Given the description of an element on the screen output the (x, y) to click on. 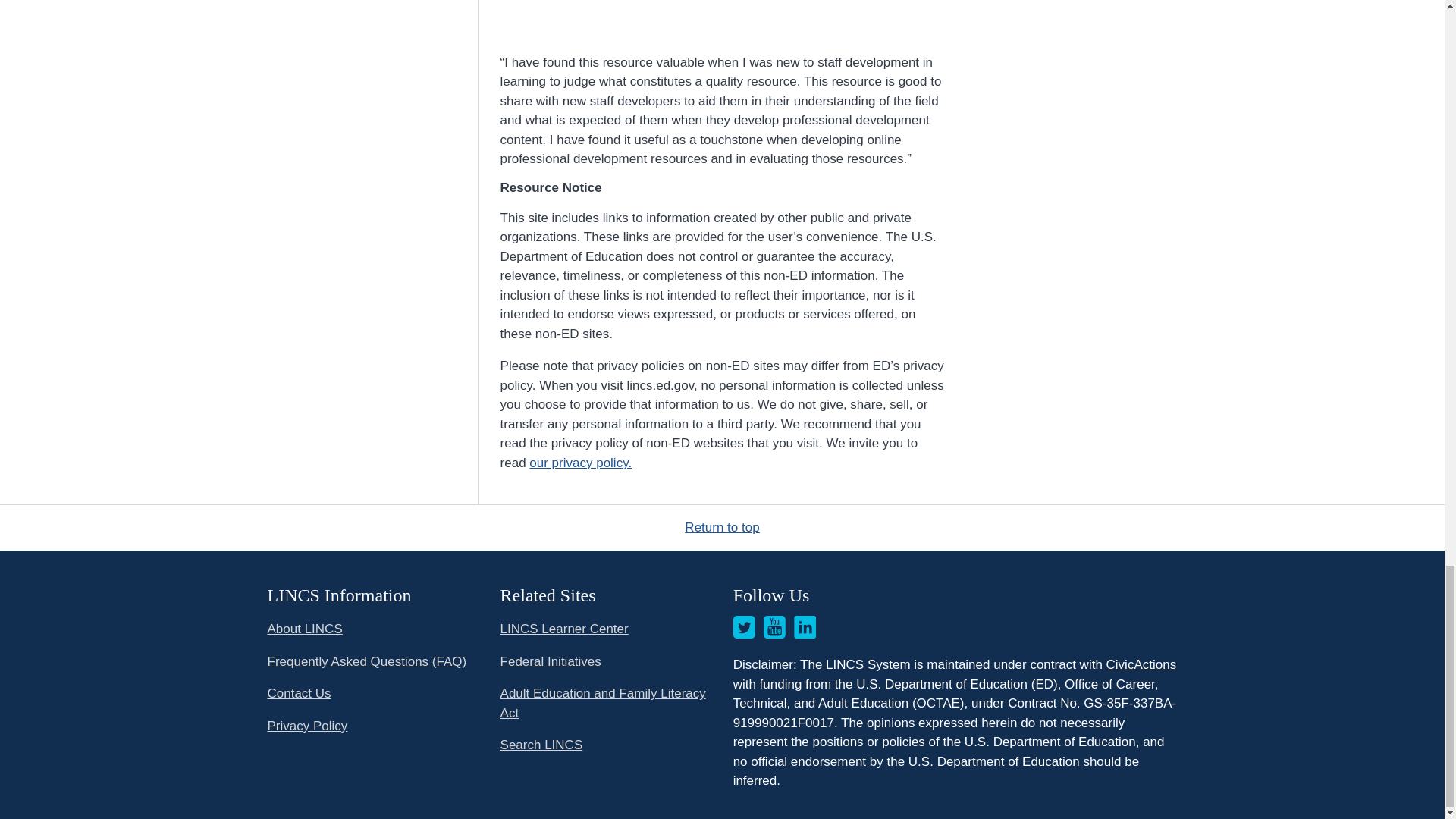
Follow LINCS on Twitter! (744, 626)
Join LINCS on LinkedIn! (804, 626)
Watch LINCS videos on YouTube! (774, 626)
